Given the description of an element on the screen output the (x, y) to click on. 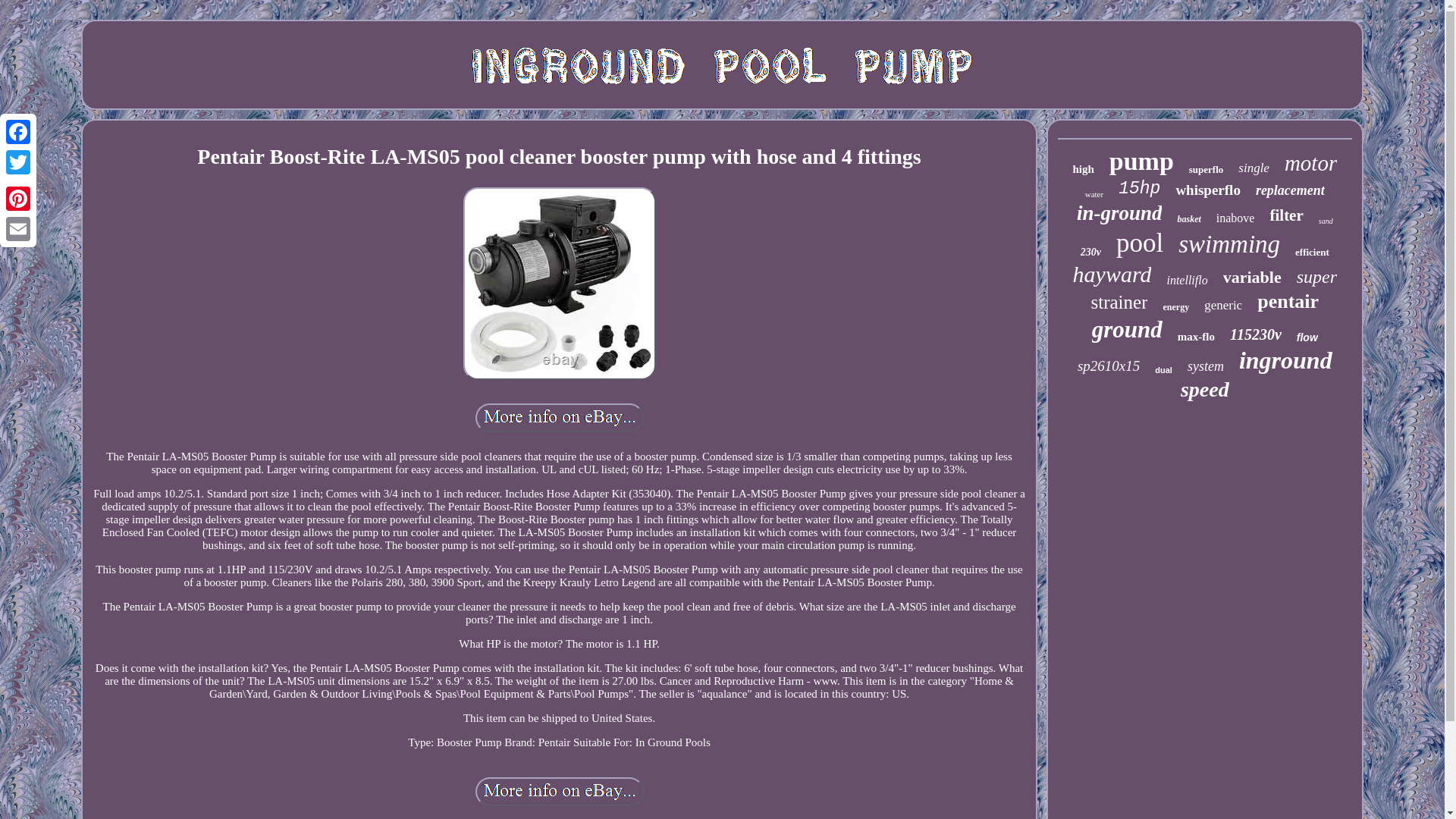
Twitter (17, 162)
Facebook (17, 132)
pump (1141, 161)
filter (1286, 215)
hayward (1112, 274)
energy (1175, 307)
water (1093, 194)
high (1082, 169)
intelliflo (1186, 280)
in-ground (1119, 213)
